Given the description of an element on the screen output the (x, y) to click on. 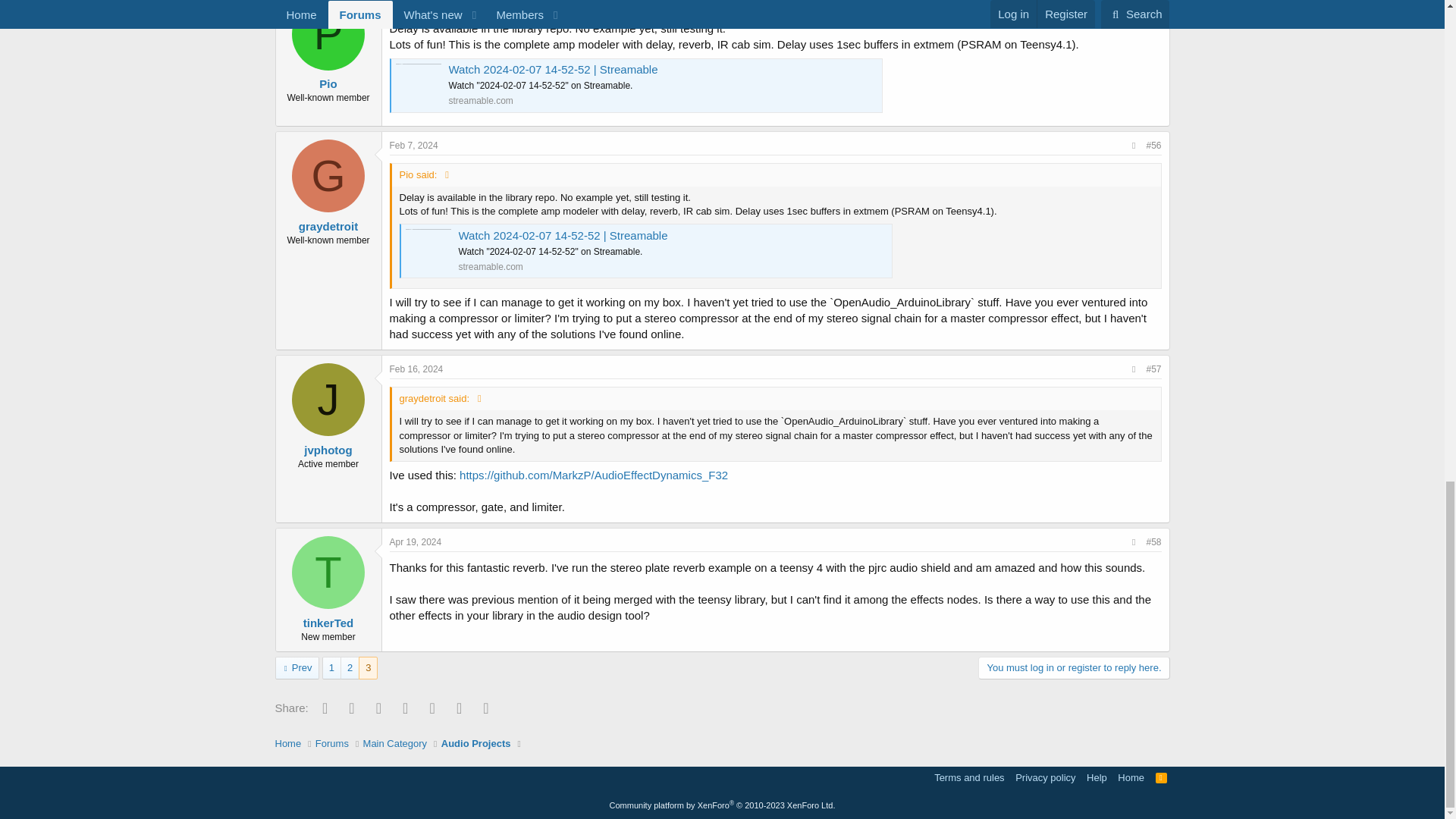
Feb 7, 2024 at 7:28 AM (414, 4)
Feb 16, 2024 at 12:34 PM (417, 368)
Feb 7, 2024 at 1:13 PM (414, 145)
Apr 19, 2024 at 11:59 AM (416, 542)
